Given the description of an element on the screen output the (x, y) to click on. 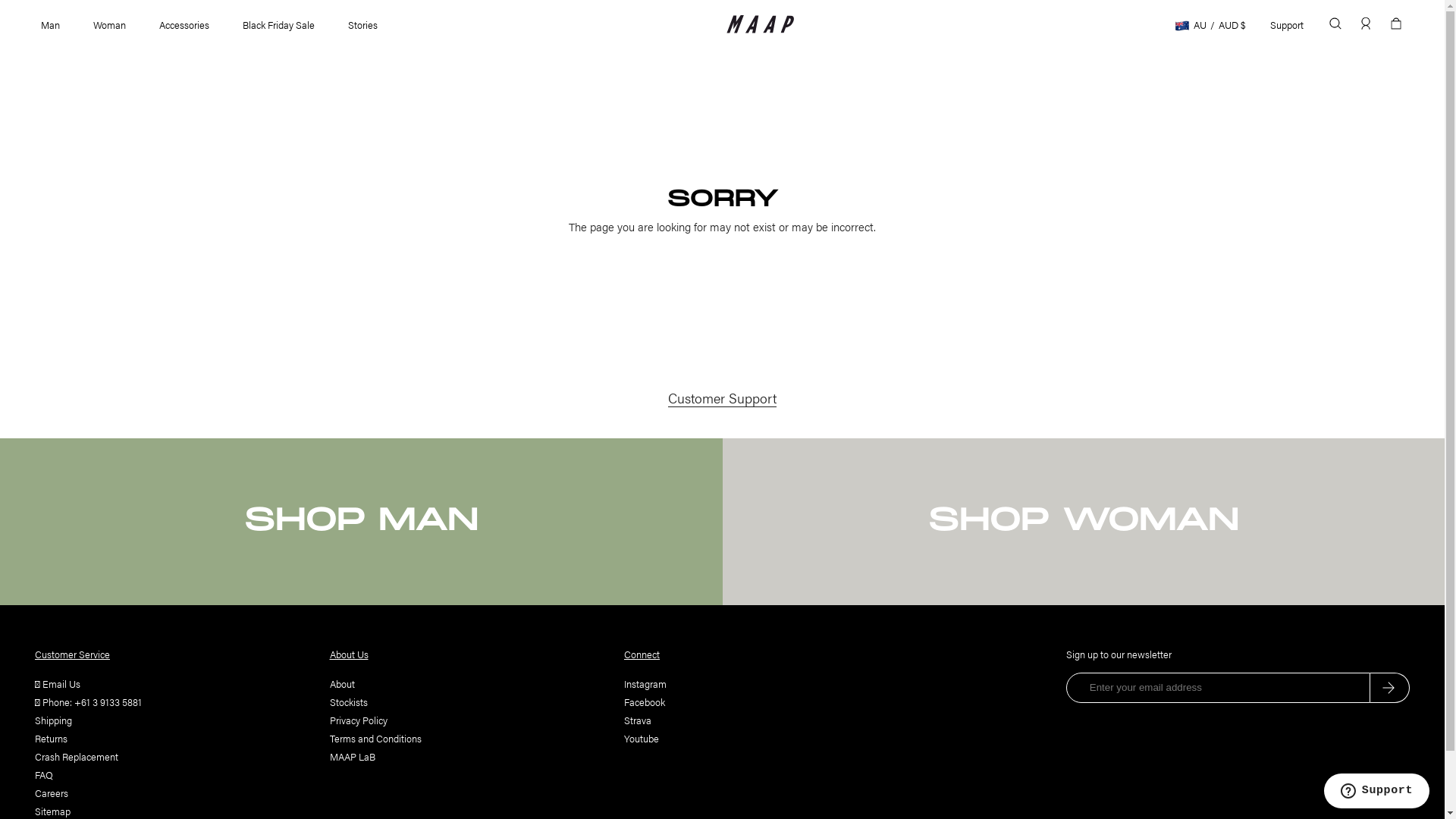
Crash Replacement Element type: text (76, 756)
Customer Support Element type: text (722, 397)
Stockists Element type: text (348, 701)
About Element type: text (341, 683)
Stories Element type: text (362, 24)
AU
/
AUD $ Element type: text (1209, 24)
Strava Element type: text (637, 719)
Woman Element type: text (109, 24)
Youtube Element type: text (641, 738)
MAAP LaB Element type: text (351, 756)
Shipping Element type: text (53, 719)
Careers Element type: text (51, 792)
Accessories Element type: text (184, 24)
Privacy Policy Element type: text (357, 719)
Returns Element type: text (50, 738)
Facebook Element type: text (644, 701)
Sitemap Element type: text (52, 810)
FAQ Element type: text (43, 774)
SHOP WOMAN Element type: text (1082, 521)
Terms and Conditions Element type: text (374, 738)
Man Element type: text (49, 24)
Opens a widget where you can find more information Element type: hover (1376, 792)
Instagram Element type: text (645, 683)
Black Friday Sale Element type: text (278, 24)
SHOP MAN Element type: text (361, 521)
